Given the description of an element on the screen output the (x, y) to click on. 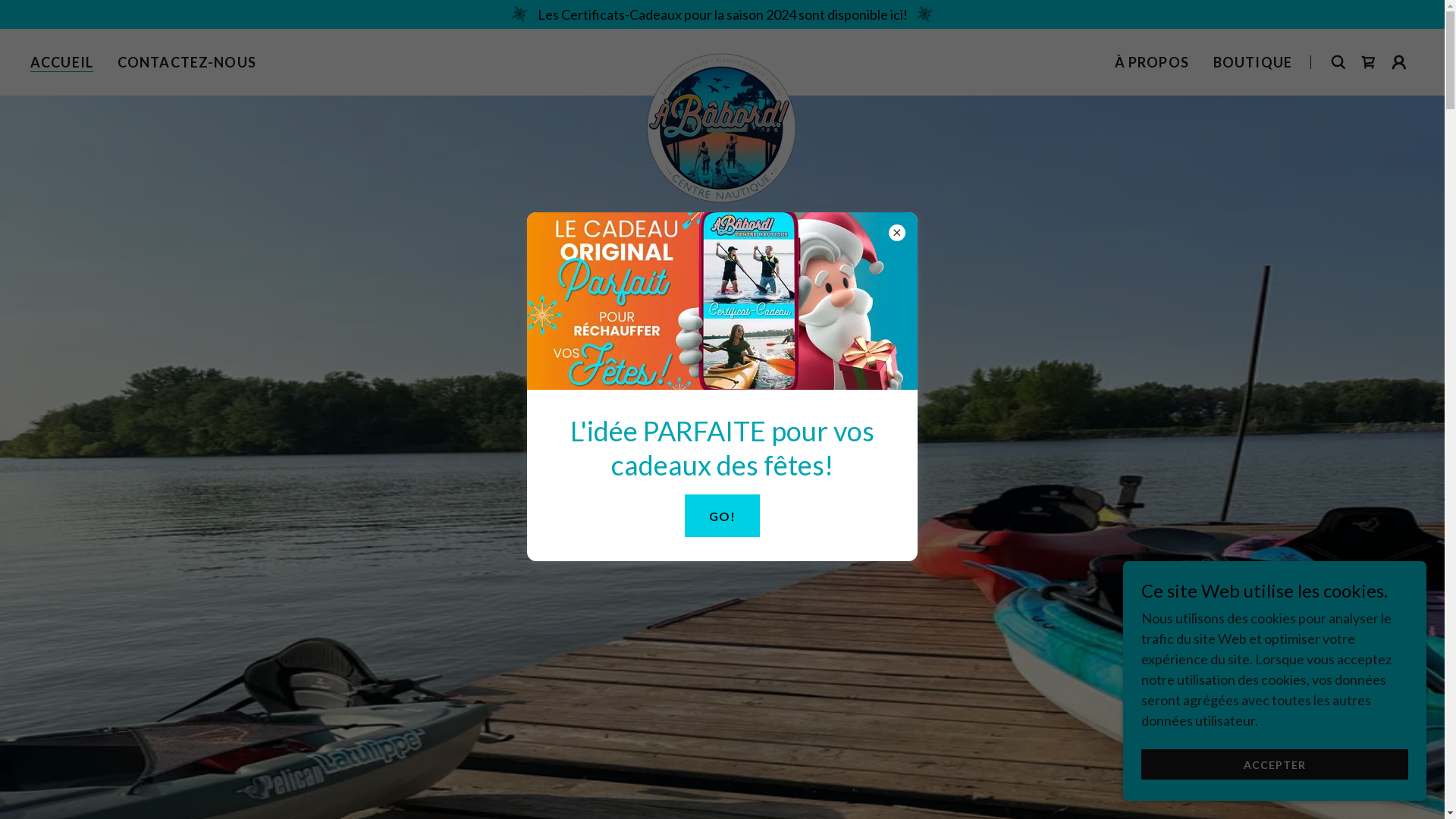
CONTACTEZ-NOUS Element type: text (186, 61)
ACCEPTER Element type: text (1274, 764)
BOUTIQUE Element type: text (1252, 61)
GO! Element type: text (721, 515)
ACCUEIL Element type: text (61, 62)
